Given the description of an element on the screen output the (x, y) to click on. 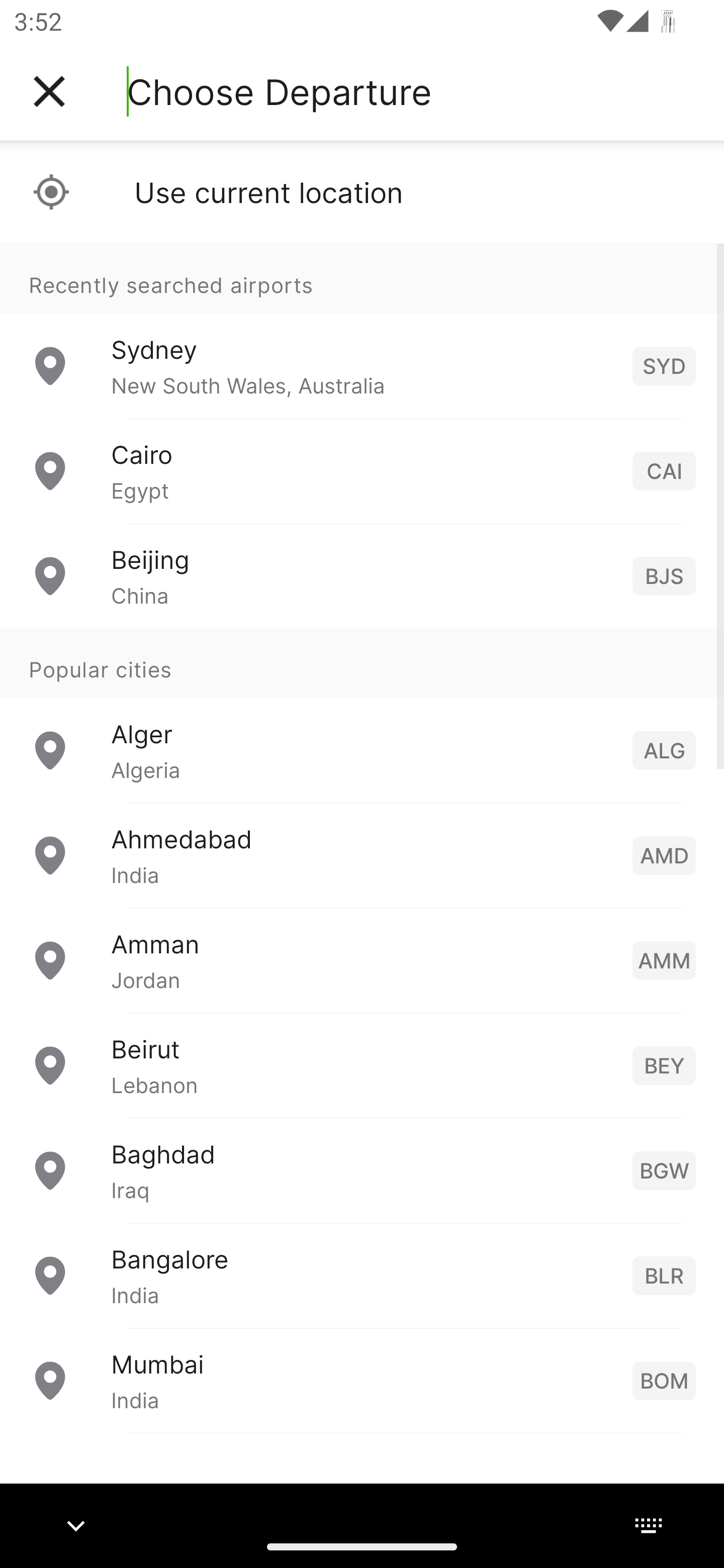
Choose Departure (279, 91)
Use current location (362, 192)
Recently searched airports (362, 278)
Cairo Egypt CAI (362, 470)
Beijing China BJS (362, 575)
Popular cities Alger Algeria ALG (362, 715)
Popular cities (362, 663)
Ahmedabad India AMD (362, 854)
Amman Jordan AMM (362, 959)
Beirut Lebanon BEY (362, 1064)
Baghdad Iraq BGW (362, 1170)
Bangalore India BLR (362, 1275)
Mumbai India BOM (362, 1380)
